Given the description of an element on the screen output the (x, y) to click on. 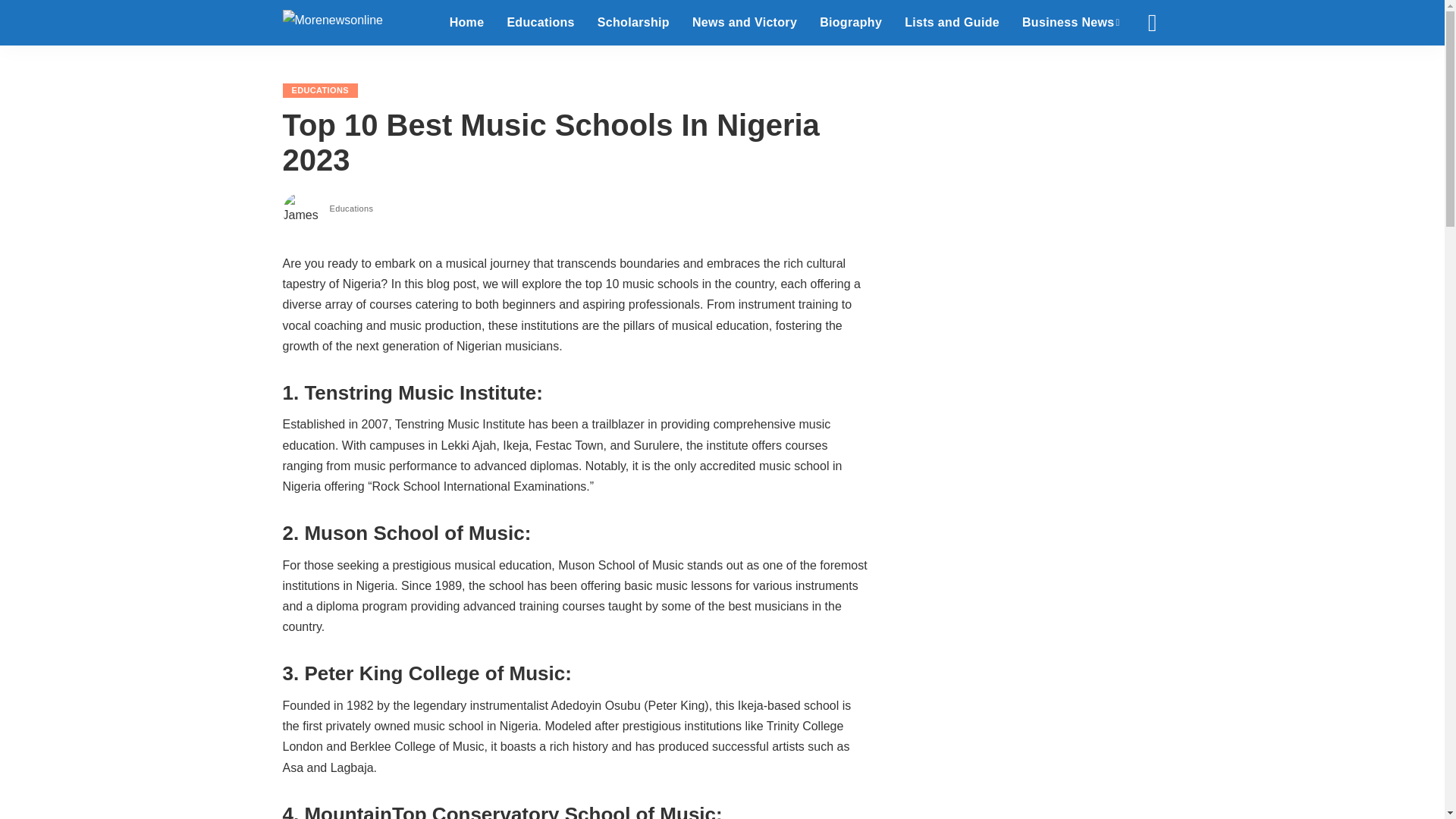
Morenewsonline (332, 22)
Scholarship (633, 22)
Educations (540, 22)
Home (467, 22)
News and Victory (744, 22)
